Given the description of an element on the screen output the (x, y) to click on. 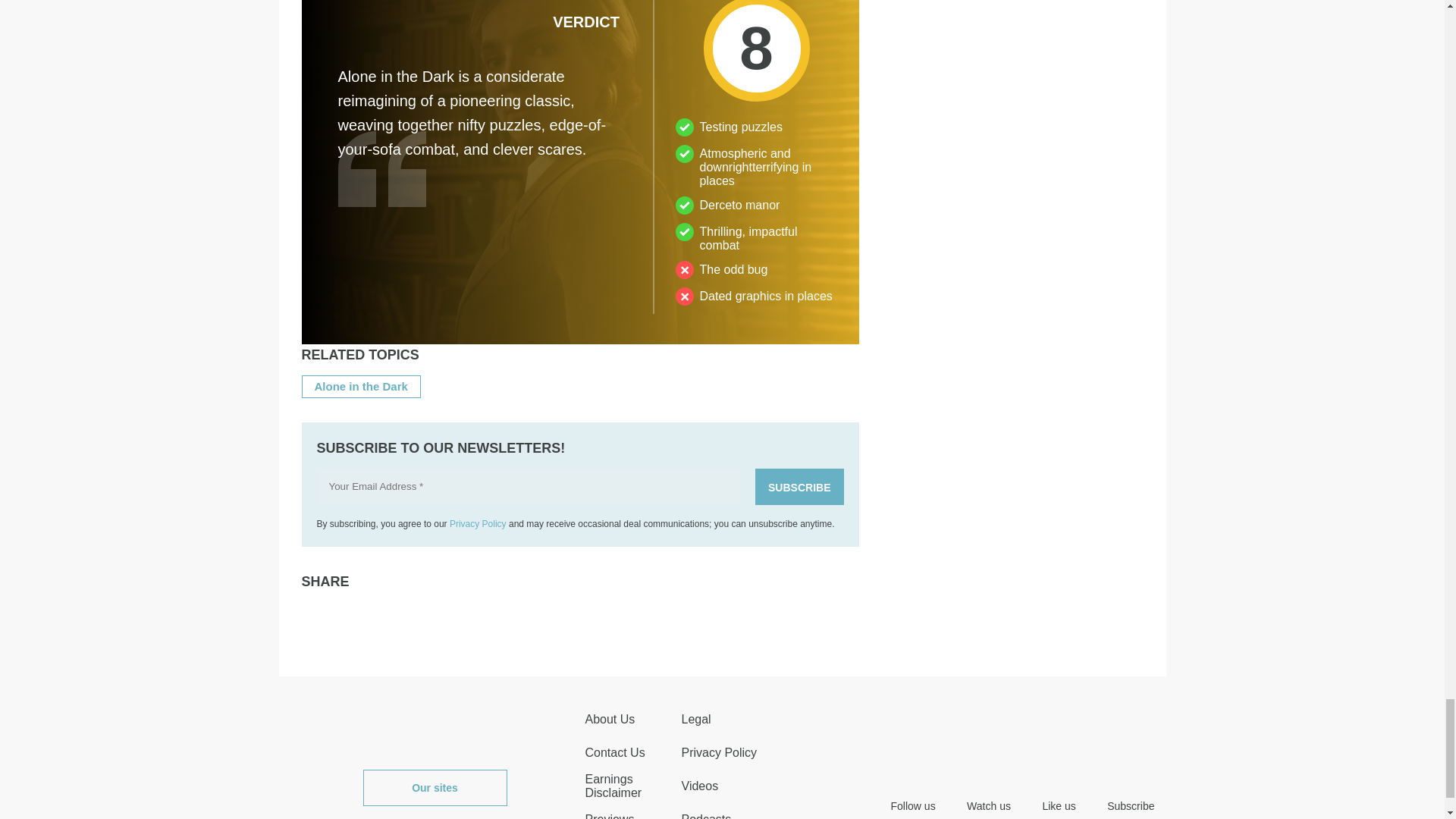
Privacy Policy (477, 523)
Alone in the Dark (360, 386)
Subscribe (799, 486)
Subscribe (799, 486)
